Given the description of an element on the screen output the (x, y) to click on. 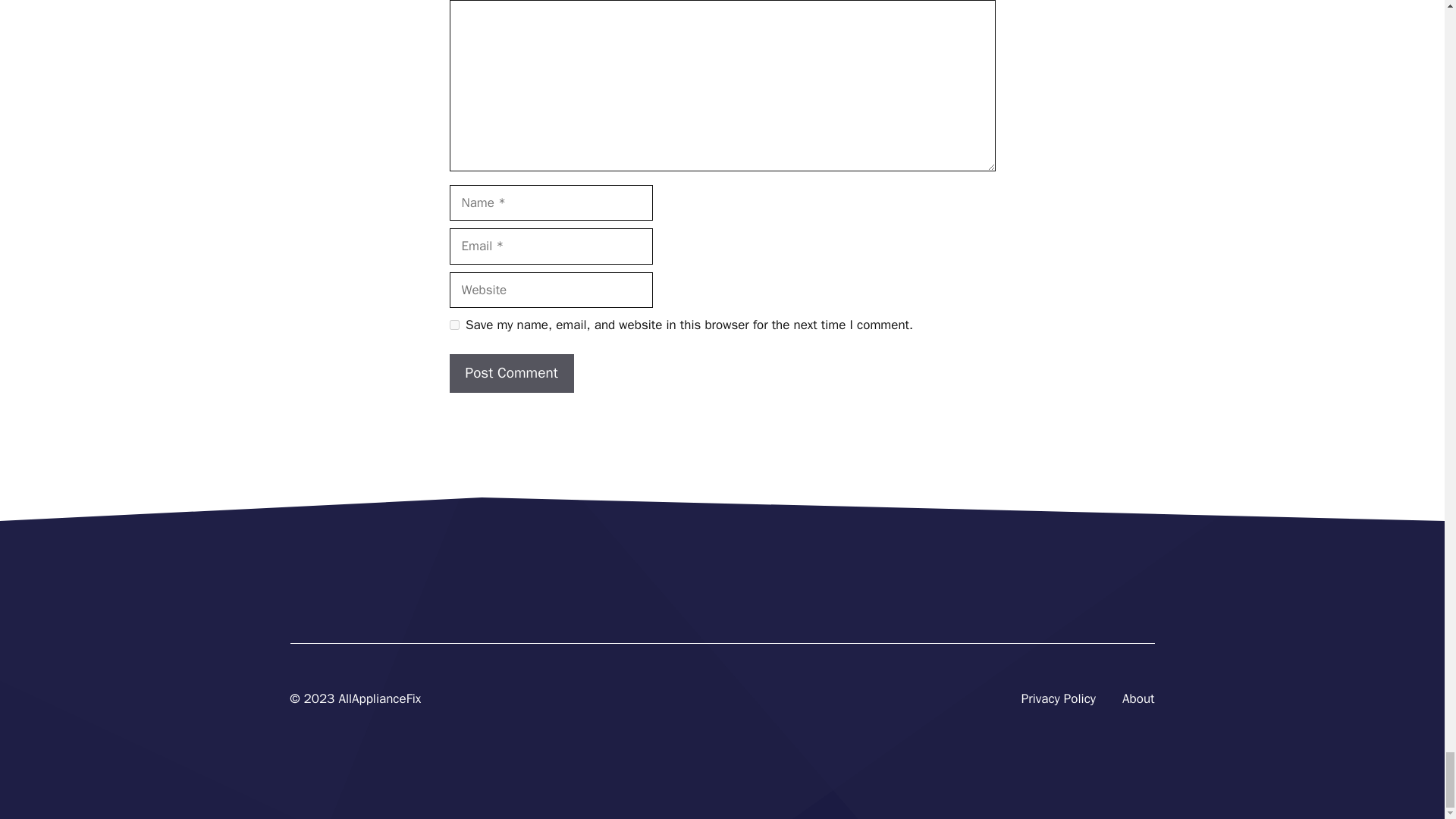
Post Comment (510, 373)
yes (453, 325)
